Given the description of an element on the screen output the (x, y) to click on. 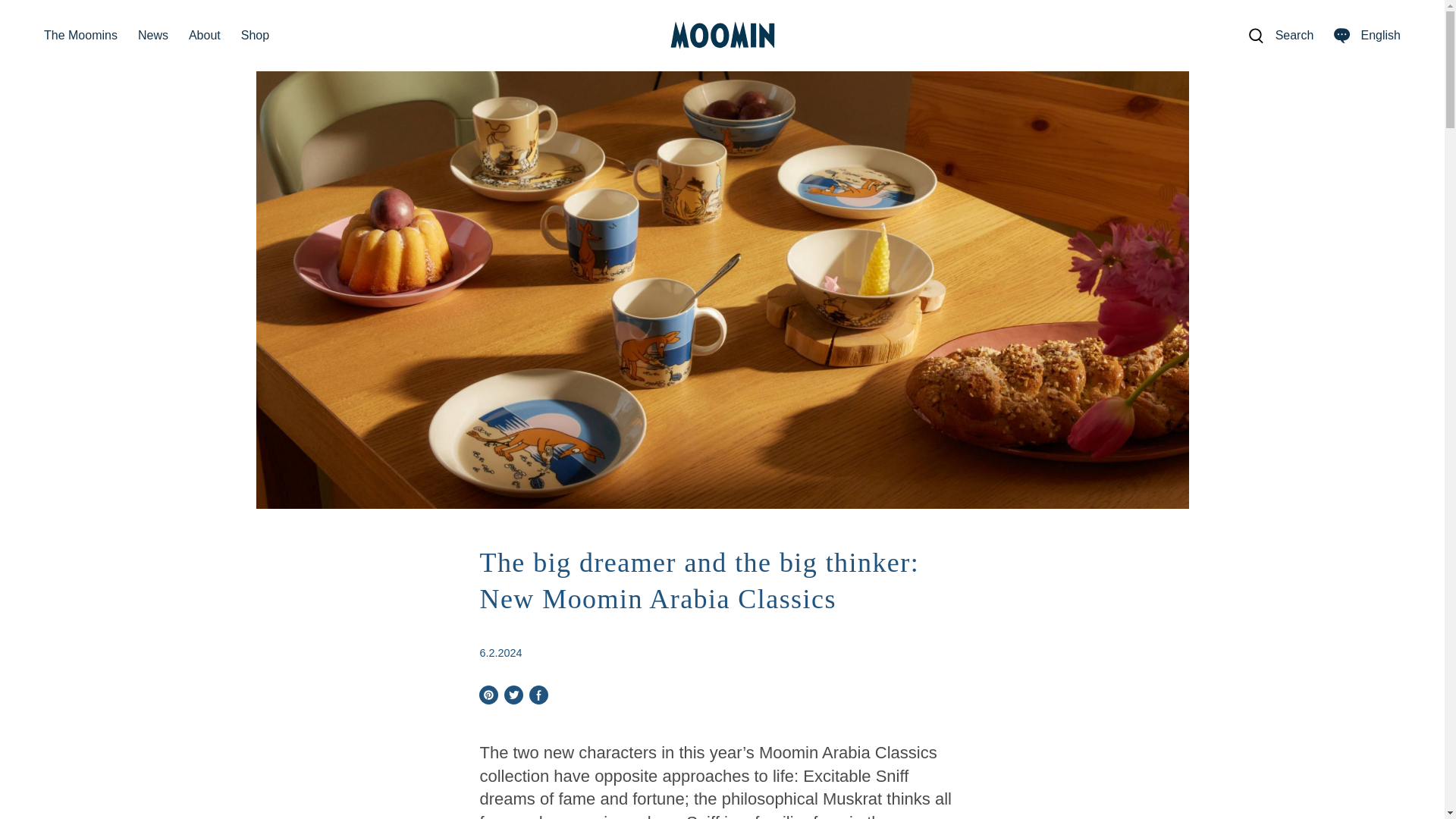
The Moomins (80, 35)
Moomin (721, 35)
Search (1280, 35)
English (1366, 35)
